Given the description of an element on the screen output the (x, y) to click on. 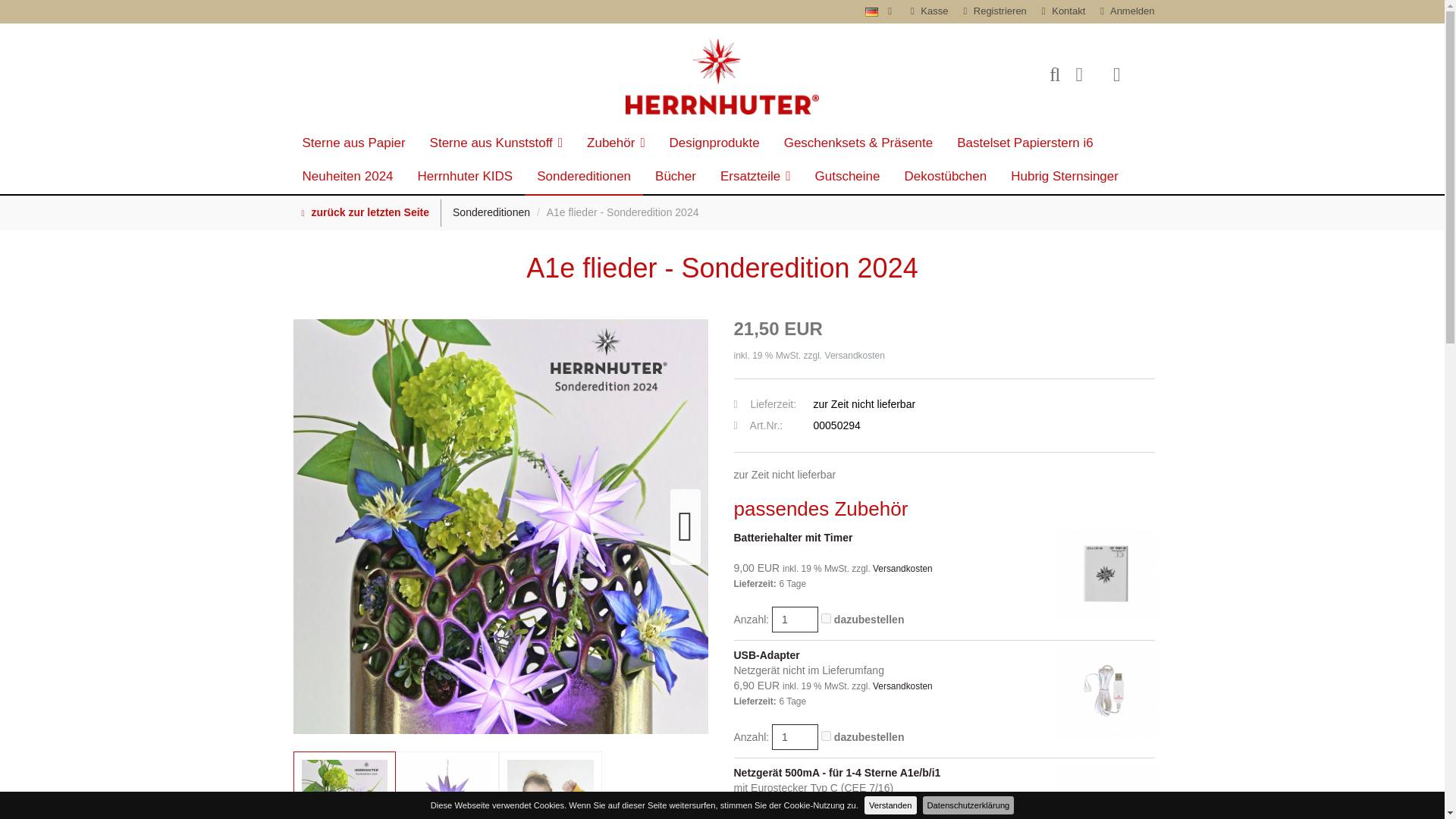
Verstanden (890, 805)
Anmelden (1123, 11)
Neuheiten 2024 (346, 176)
Herrnhuter KIDS (465, 176)
Kontakt (1058, 11)
Kasse (925, 11)
Anmelden (1123, 11)
Ersatzteile (755, 176)
Bastelset Papierstern i6 (1024, 143)
Kunststoffsterne (496, 143)
Sterne aus Kunststoff (496, 143)
326 (826, 618)
Registrieren (990, 11)
1 (794, 736)
Kasse (925, 11)
